Given the description of an element on the screen output the (x, y) to click on. 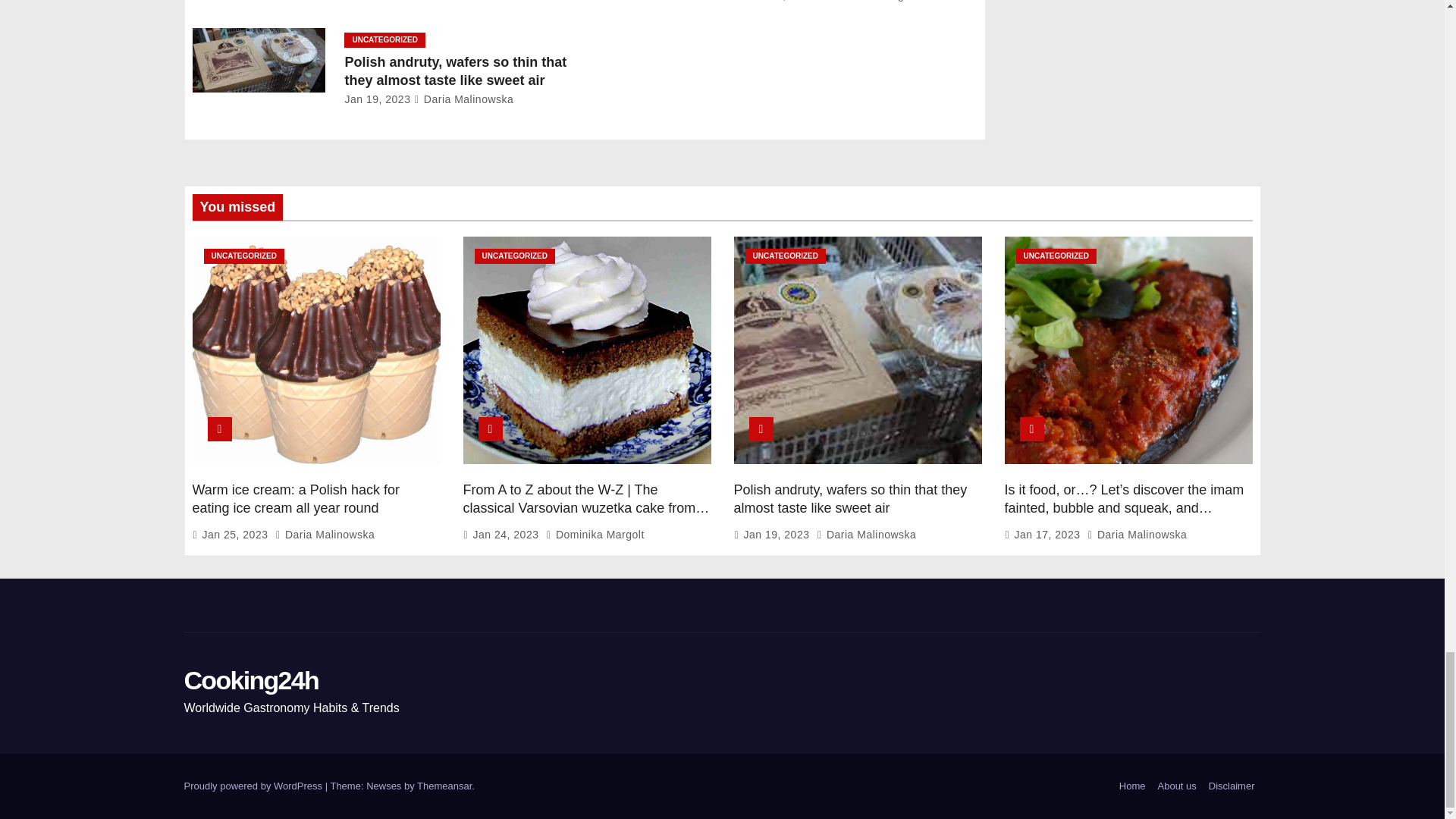
Home (1132, 786)
